Given the description of an element on the screen output the (x, y) to click on. 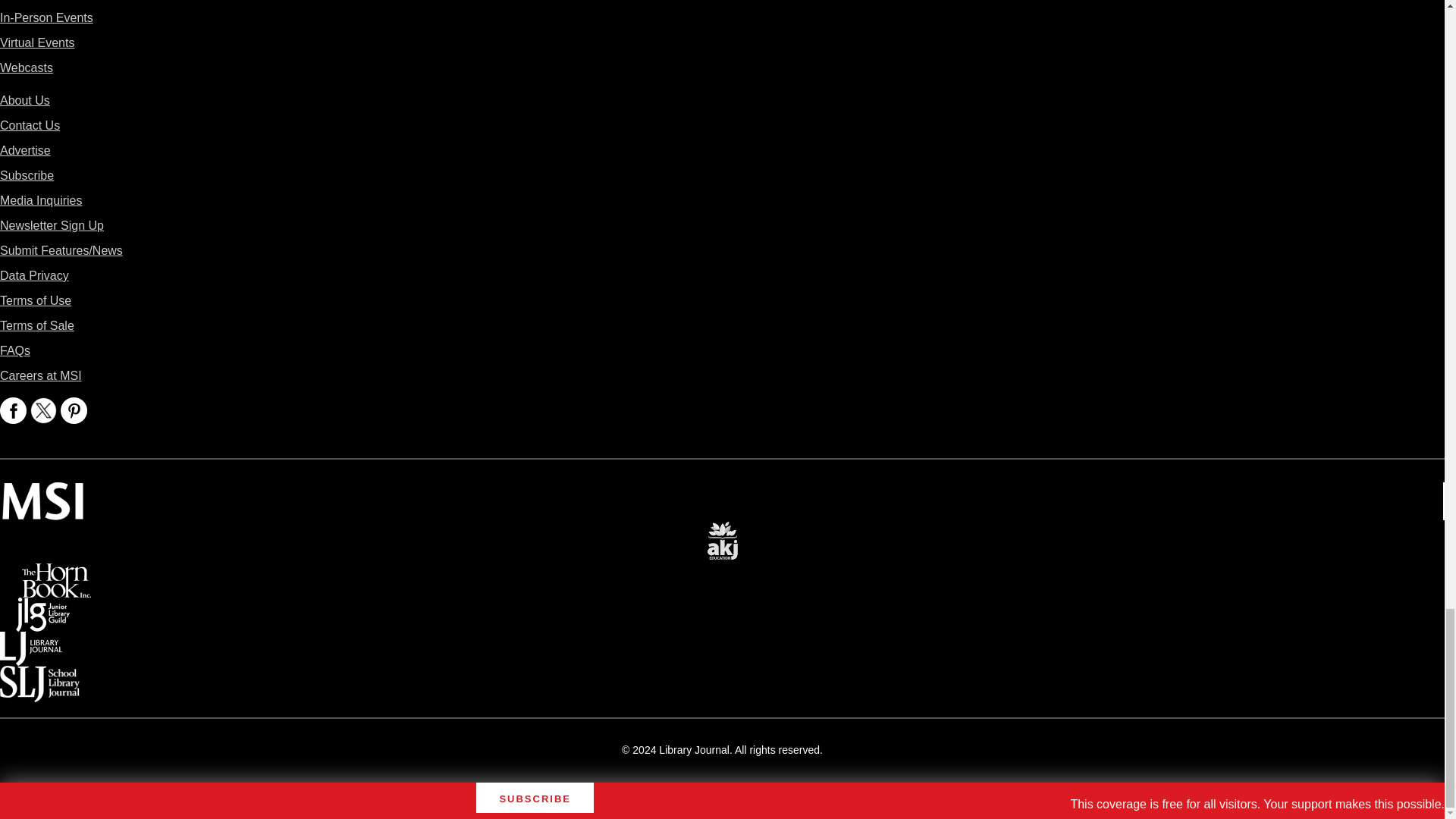
School Library Journal (40, 676)
Junior Library Guild (42, 607)
The Horn Book (56, 573)
Media Source Incorporated (42, 492)
AKJ (722, 530)
